Given the description of an element on the screen output the (x, y) to click on. 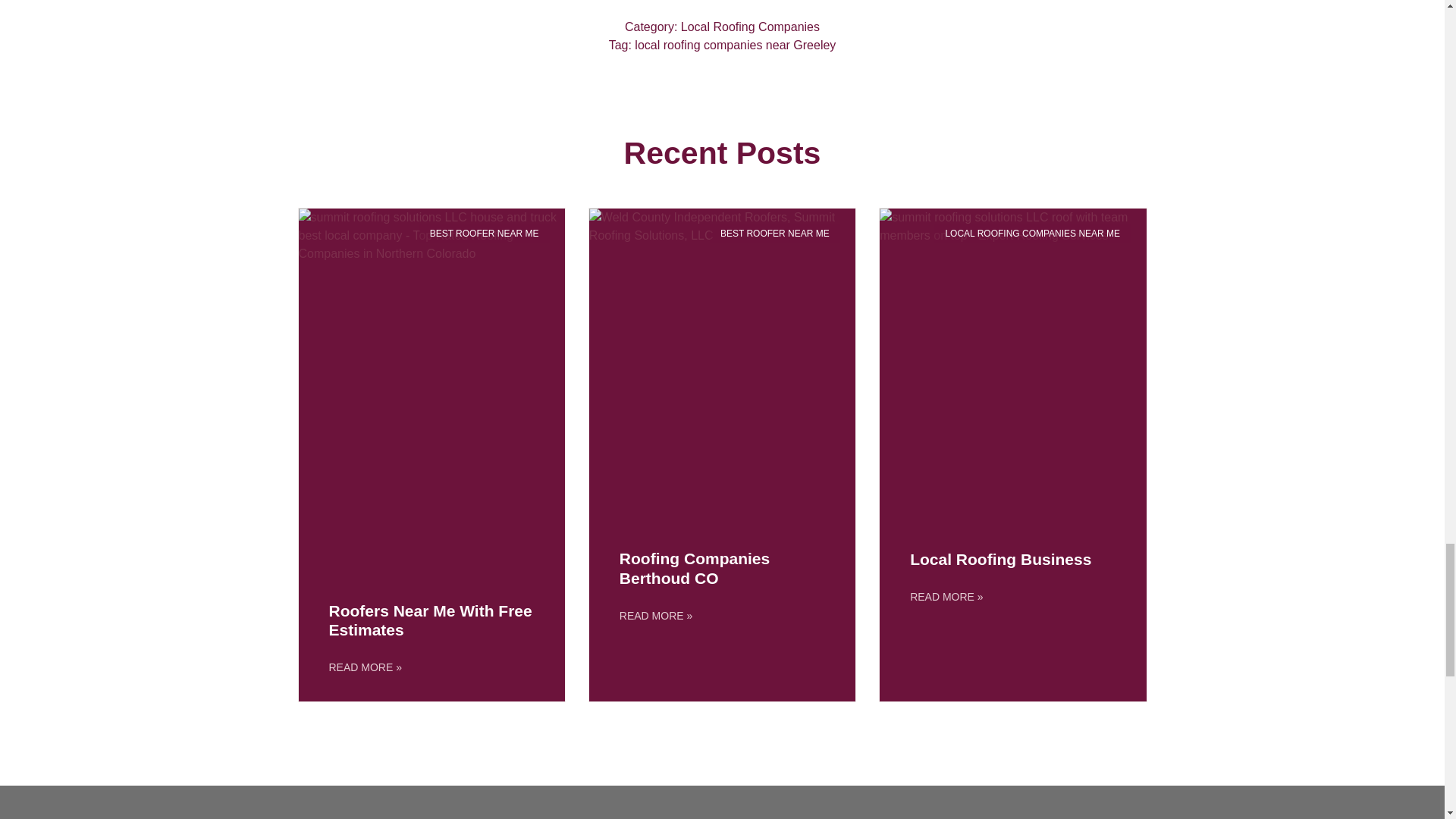
Local Roofing Companies (750, 26)
local roofing companies near Greeley (734, 44)
Roofers Near Me With Free Estimates (430, 619)
